Given the description of an element on the screen output the (x, y) to click on. 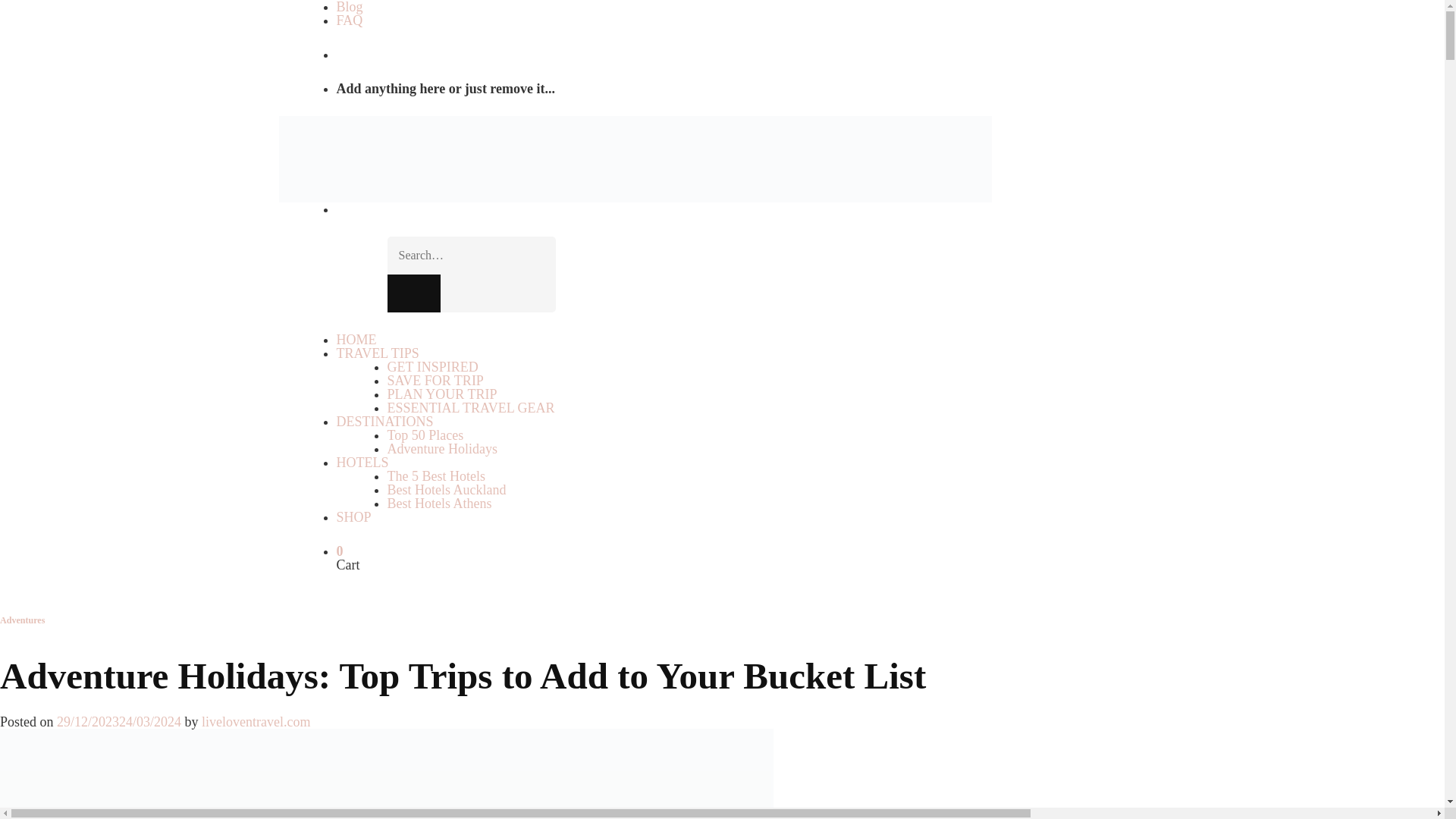
SAVE FOR TRIP (435, 380)
Best Hotels Athens (439, 503)
PLAN YOUR TRIP (441, 394)
TRAVEL TIPS (377, 353)
FAQ (349, 20)
Search (413, 293)
HOTELS (362, 462)
ESSENTIAL TRAVEL GEAR (470, 407)
Adventure Holidays: Top Trips to Add to Your Bucket List (386, 773)
Blog (349, 7)
